Given the description of an element on the screen output the (x, y) to click on. 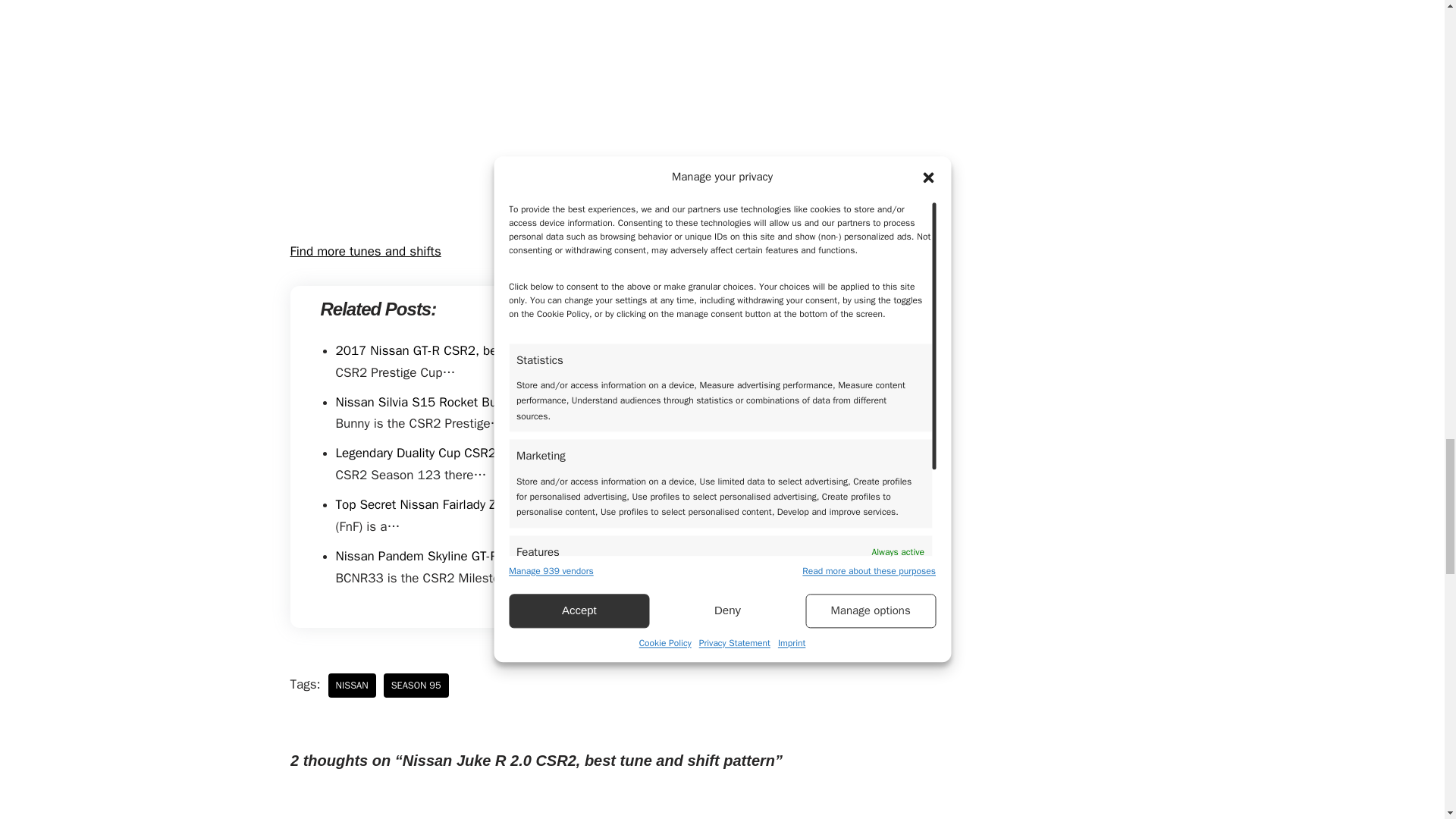
Season 95 (416, 685)
Nissan (352, 685)
